Given the description of an element on the screen output the (x, y) to click on. 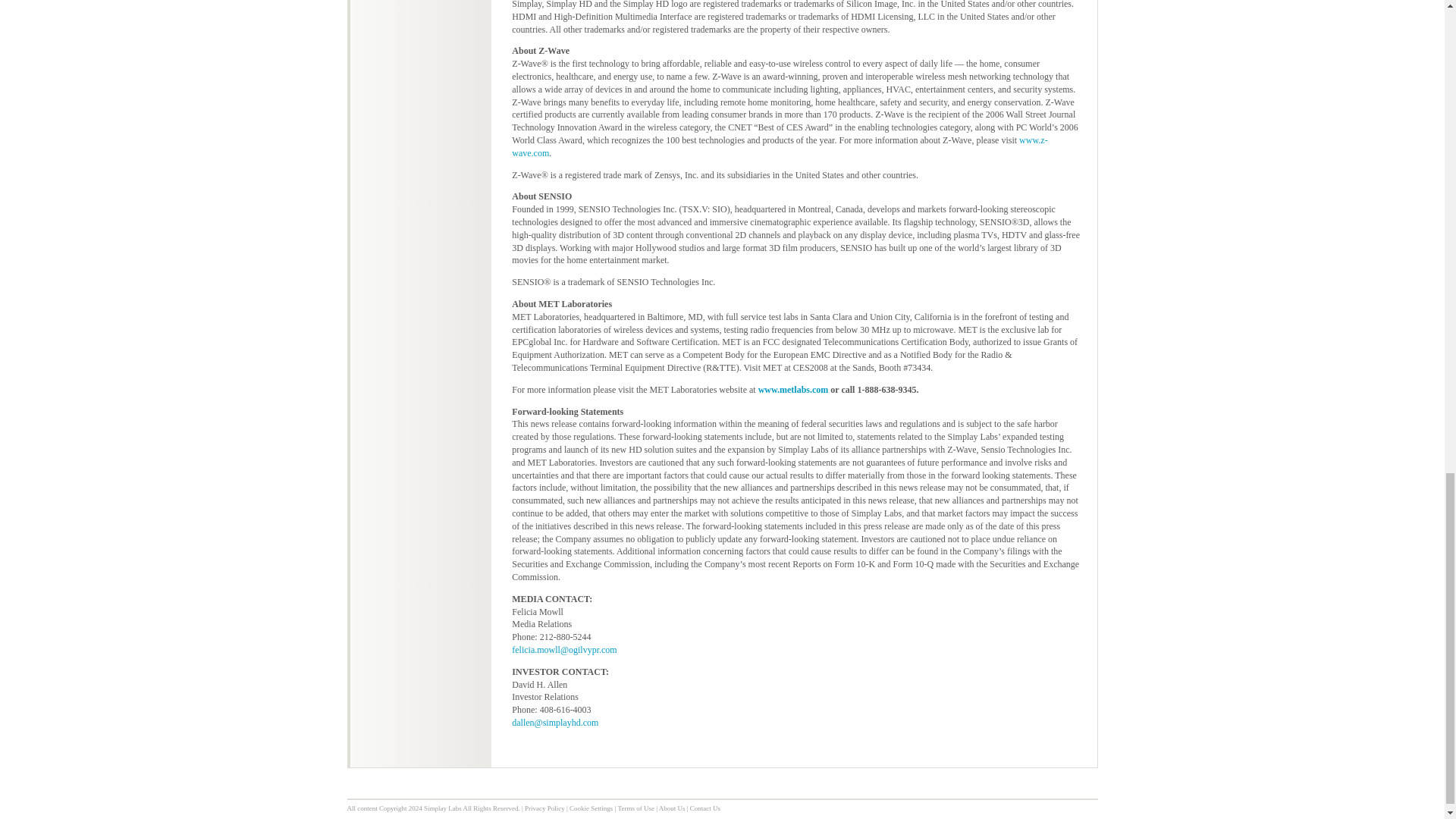
www.metlabs.com (793, 389)
About Us (672, 808)
Terms of Use (635, 808)
Privacy Policy (544, 808)
www.z-wave.com (779, 146)
Contact Us (705, 808)
Cookie Settings (590, 808)
